Given the description of an element on the screen output the (x, y) to click on. 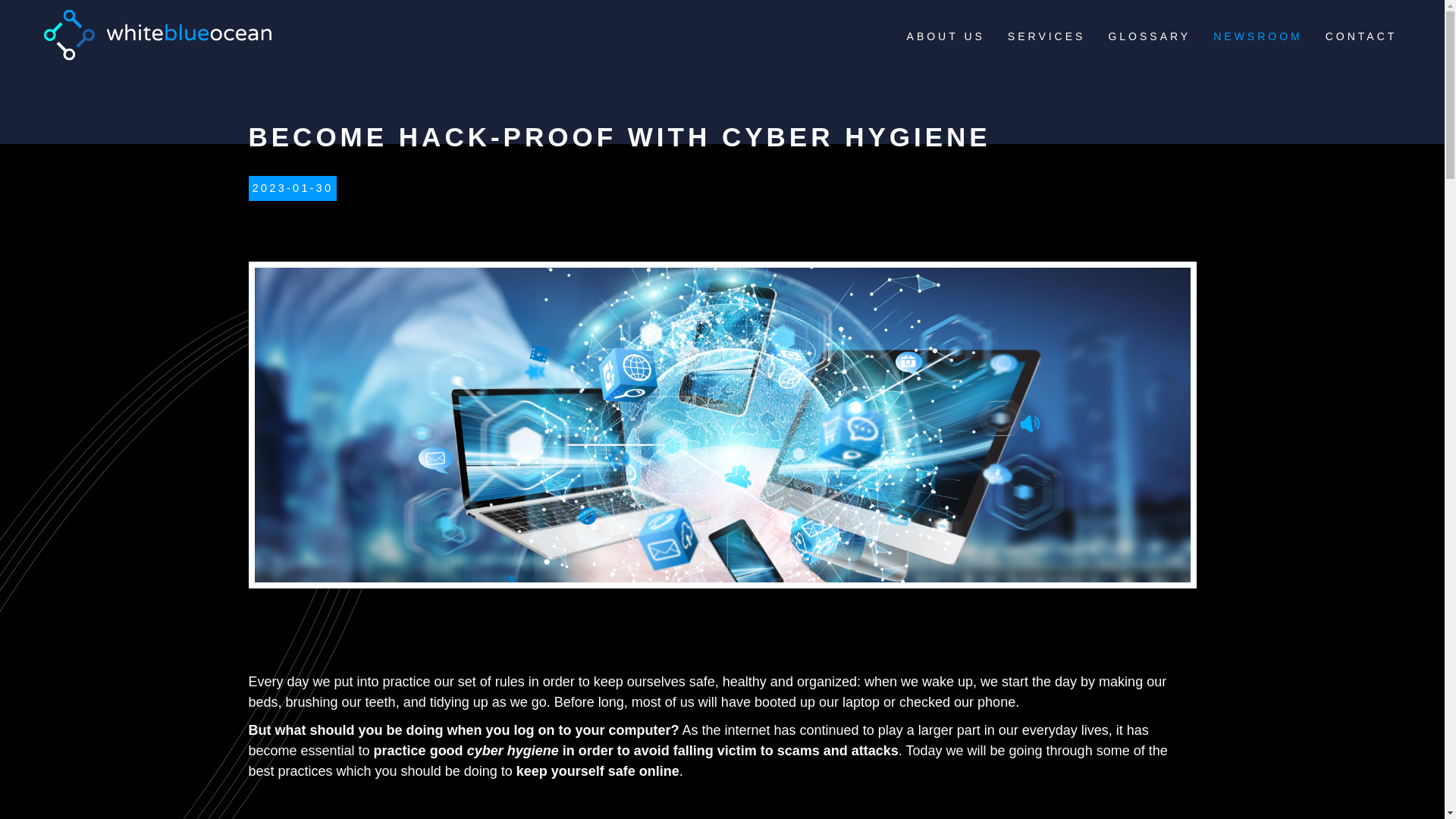
GLOSSARY (1149, 36)
CONTACT (1360, 36)
ABOUT US (946, 36)
SERVICES (1046, 36)
NEWSROOM (1257, 36)
